Given the description of an element on the screen output the (x, y) to click on. 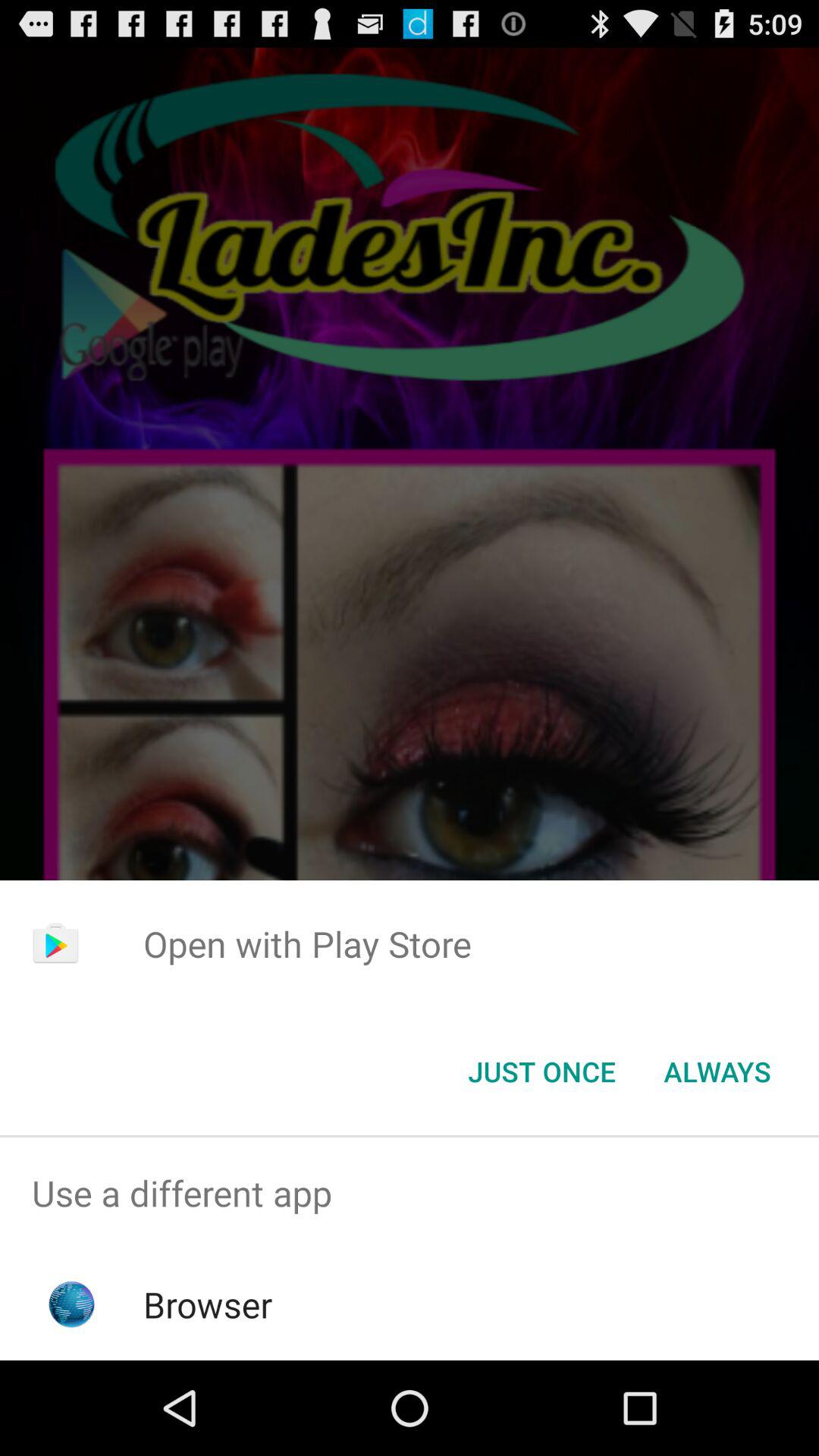
tap the button next to the just once icon (717, 1071)
